Given the description of an element on the screen output the (x, y) to click on. 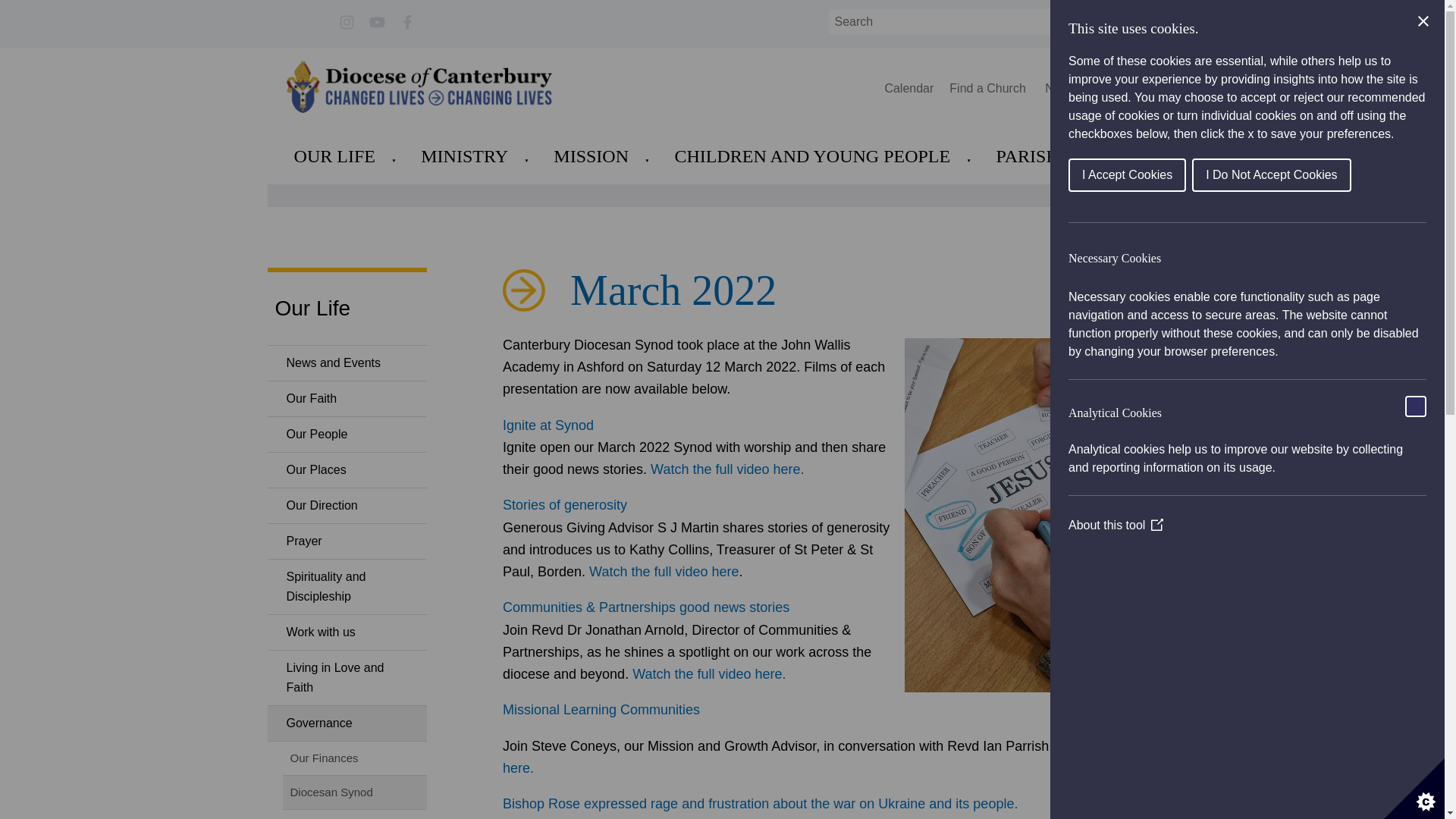
Calendar (908, 88)
Safeguarding (1126, 88)
Diocese of Canterbury Logo (418, 85)
Find a Church (989, 88)
